Given the description of an element on the screen output the (x, y) to click on. 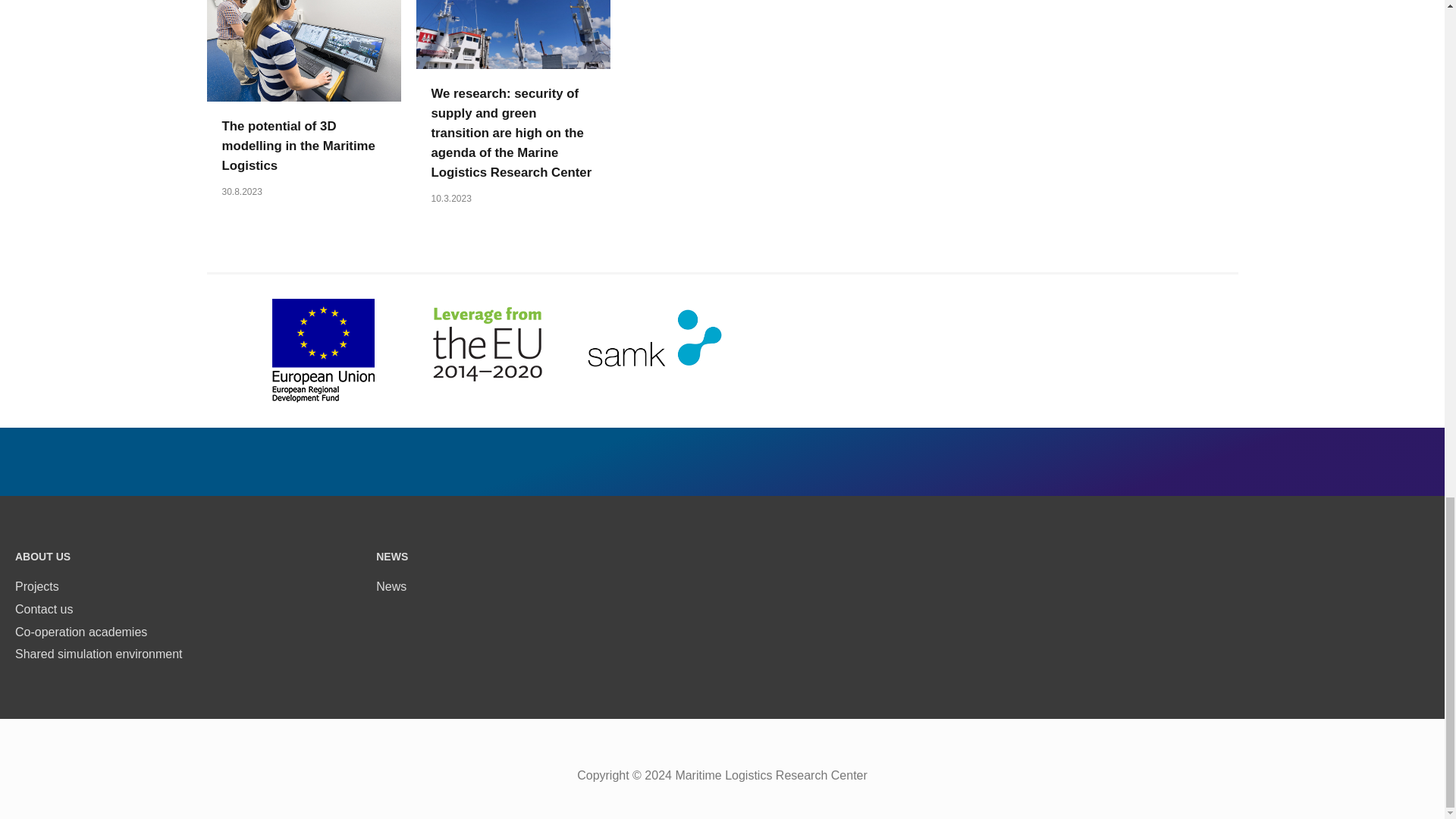
The potential of 3D modelling in the Maritime Logistics (297, 145)
LeverageEU 2014 2020 150 (486, 355)
The potential of 3D modelling in the Maritime Logistics (297, 145)
EU EAKR EN 150 (323, 346)
Shared simulation environment (98, 653)
Co-operation academies (80, 631)
Projects (36, 585)
The potential of 3D modelling in the Maritime Logistics (303, 35)
News (390, 585)
Contact us (43, 608)
